Given the description of an element on the screen output the (x, y) to click on. 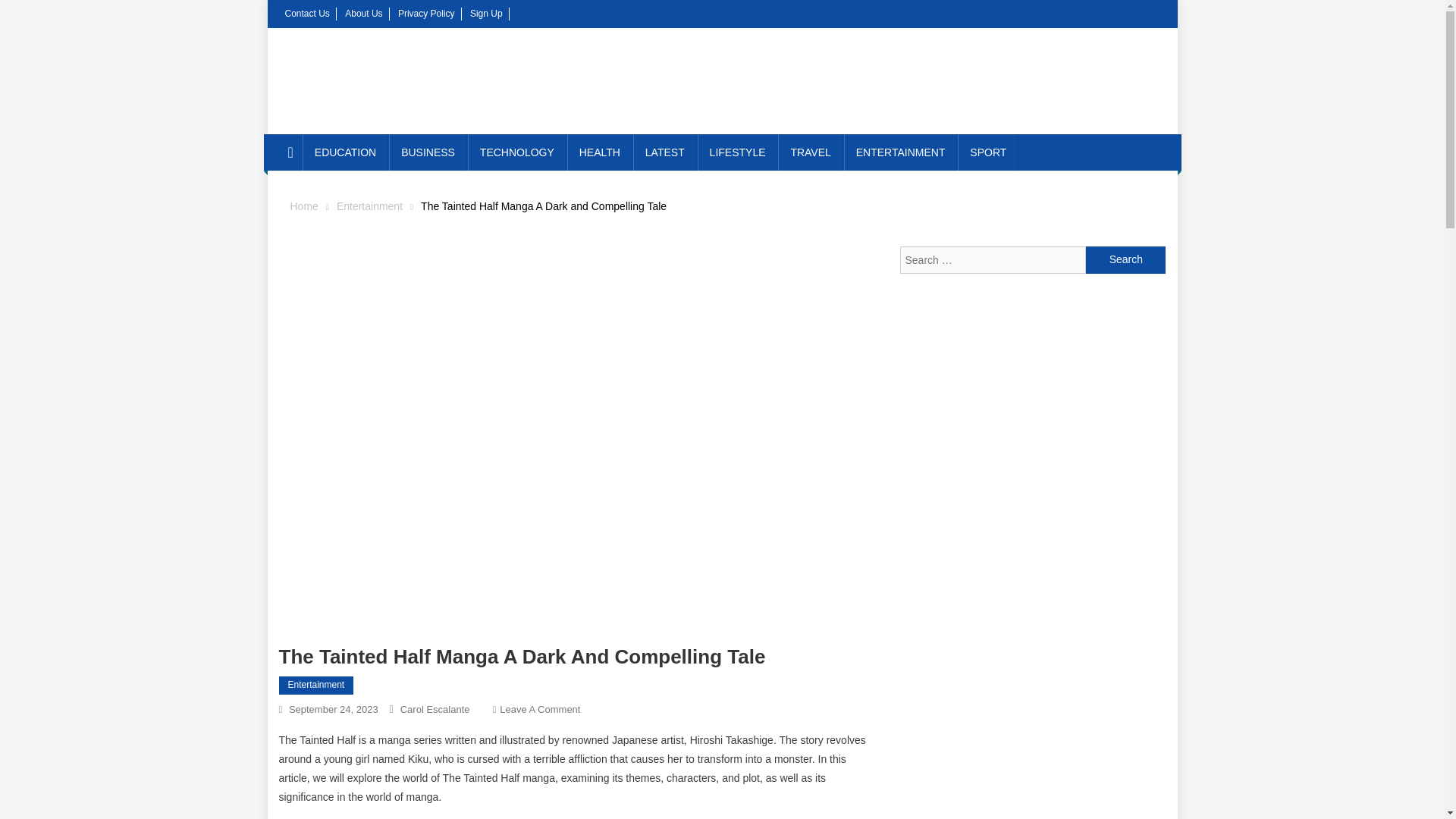
BUSINESS (427, 152)
Entertainment (369, 205)
Carol Escalante (435, 708)
TRAVEL (810, 152)
September 24, 2023 (333, 708)
HEALTH (599, 152)
Home (303, 205)
Sign Up (486, 13)
LIFESTYLE (737, 152)
